Given the description of an element on the screen output the (x, y) to click on. 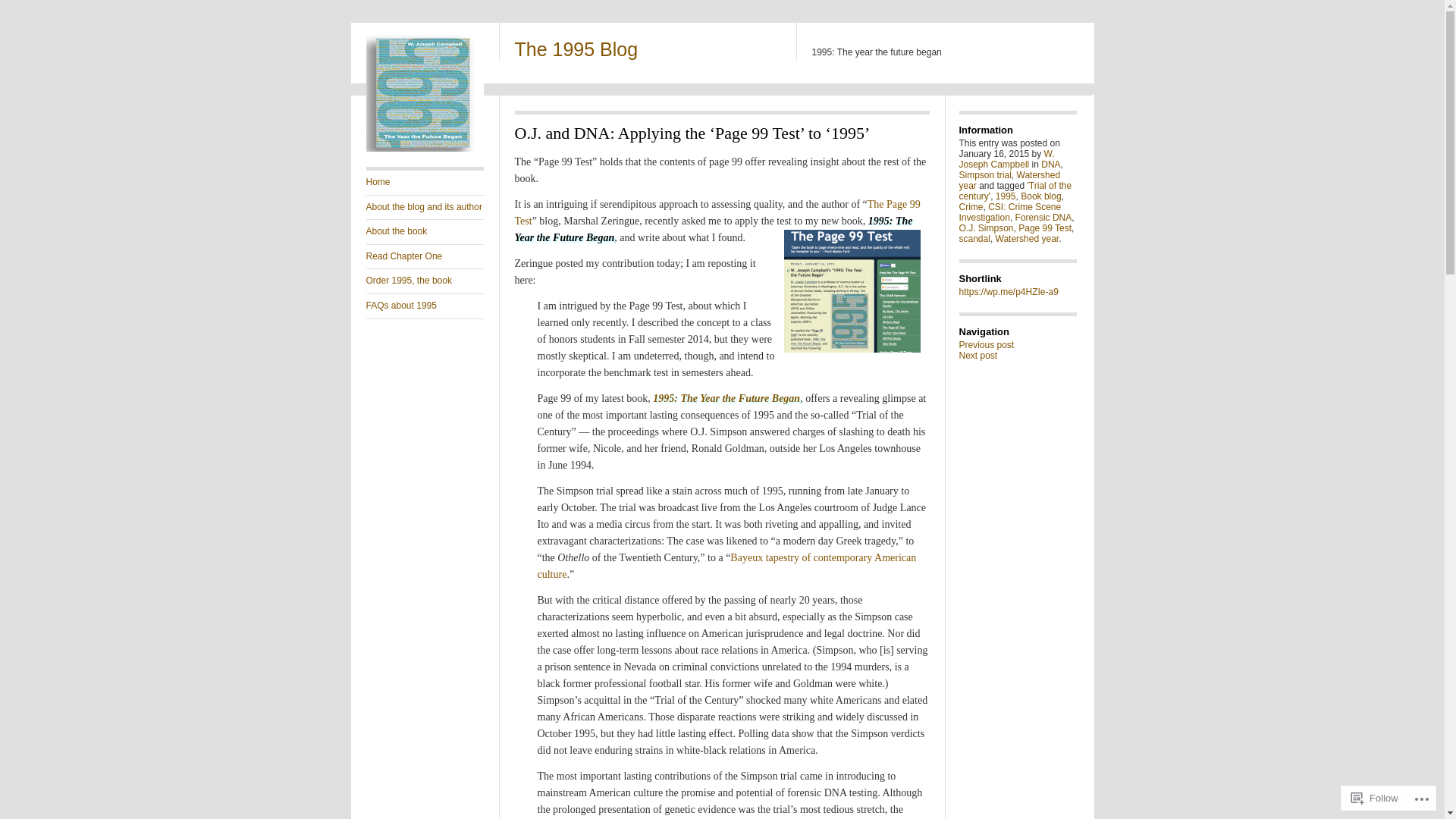
Next post Element type: text (977, 355)
FAQs about 1995 Element type: text (424, 306)
The 1995 Blog Element type: hover (424, 148)
1995: The Year the Future Began Element type: text (726, 398)
Forensic DNA Element type: text (1043, 217)
1995 Element type: text (1005, 196)
About the blog and its author Element type: text (424, 207)
DNA Element type: text (1050, 164)
Page 99 Test Element type: text (1044, 227)
Crime Element type: text (970, 206)
Watershed year Element type: text (1027, 238)
CSI: Crime Scene Investigation Element type: text (1009, 211)
The 1995 Blog Element type: text (575, 48)
Follow Element type: text (1374, 797)
scandal Element type: text (973, 238)
Read Chapter One Element type: text (424, 256)
Previous post Element type: text (985, 344)
Bayeux tapestry of contemporary American culture Element type: text (726, 566)
About the book Element type: text (424, 231)
Book blog Element type: text (1040, 196)
O.J. Simpson Element type: text (985, 227)
W. Joseph Campbell Element type: text (1006, 158)
Watershed year Element type: text (1009, 180)
'Trial of the century' Element type: text (1014, 190)
Home Element type: text (424, 182)
Order 1995, the book Element type: text (424, 281)
Simpson trial Element type: text (984, 174)
https://wp.me/p4HZIe-a9 Element type: text (1007, 291)
Search Element type: text (29, 9)
The Page 99 Test Element type: text (716, 212)
1995: The Year the Future Began Element type: text (713, 229)
